Given the description of an element on the screen output the (x, y) to click on. 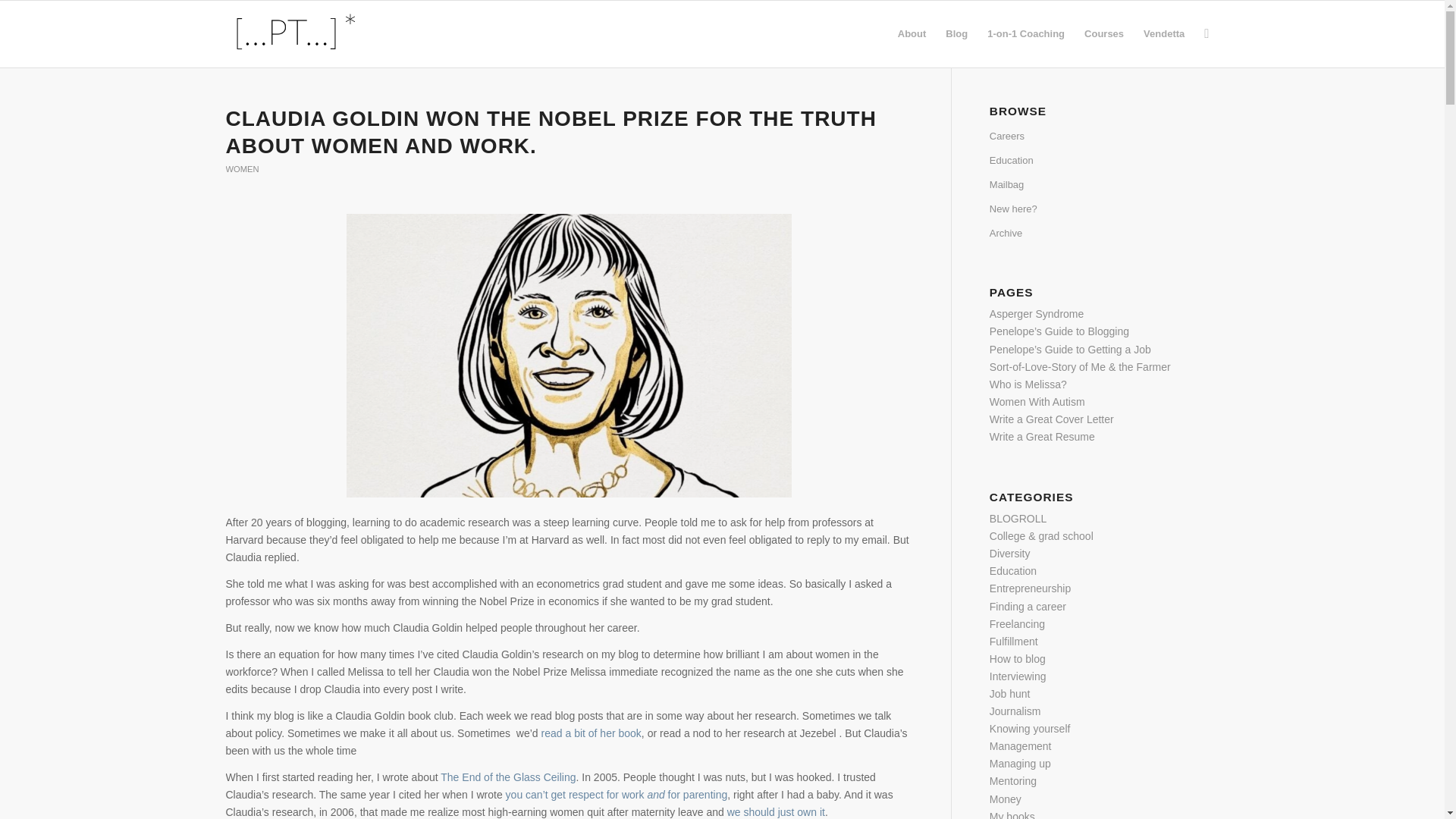
read a bit of her book (591, 733)
Vendetta (1163, 33)
1-on-1 Coaching (1025, 33)
The End of the Glass Ceiling (508, 776)
WOMEN (242, 168)
we should just own it (775, 811)
